Given the description of an element on the screen output the (x, y) to click on. 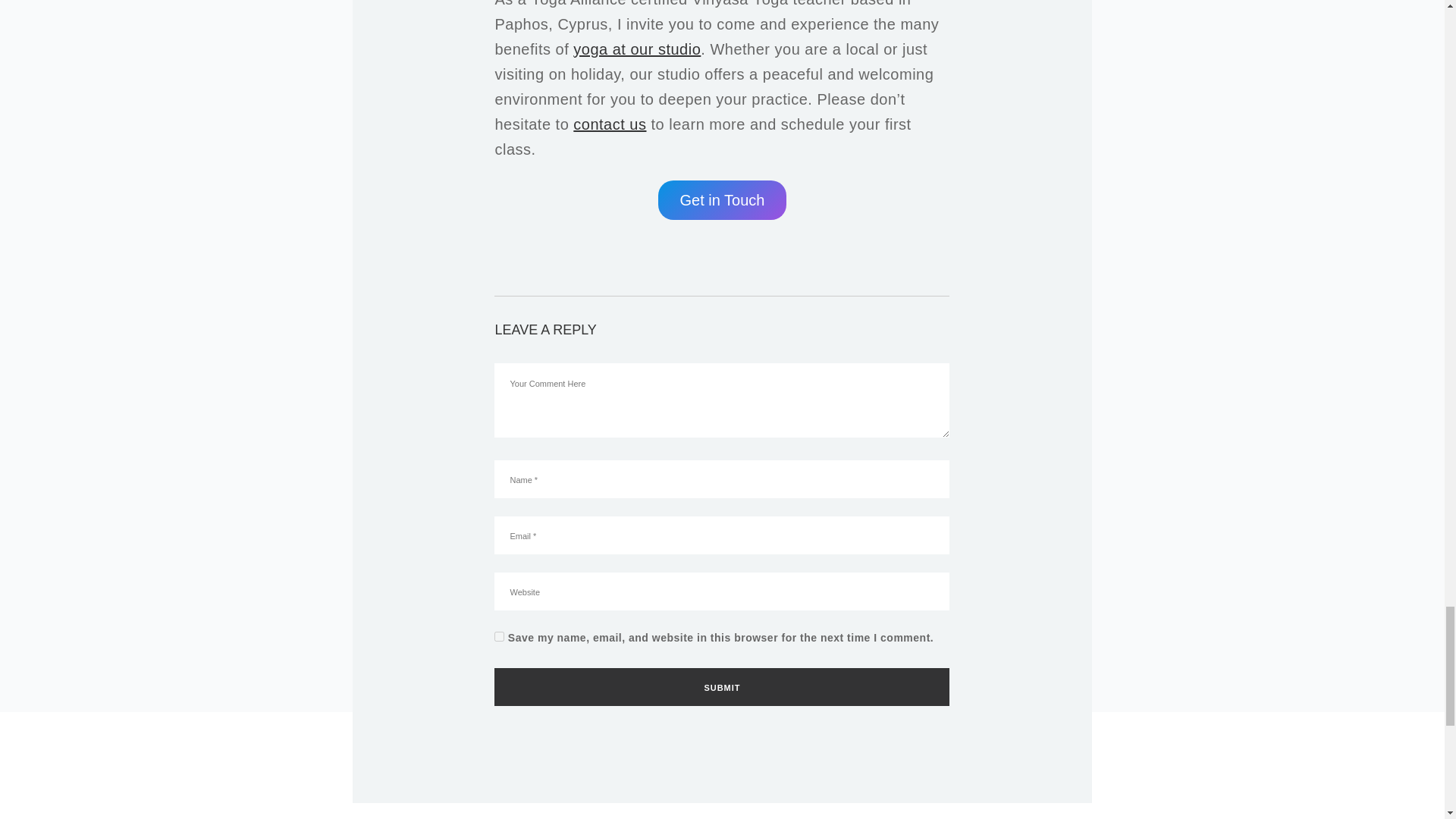
yes (499, 636)
Get in Touch (722, 200)
contact us (609, 124)
Submit (722, 686)
yoga at our studio (636, 48)
Submit (722, 686)
